Given the description of an element on the screen output the (x, y) to click on. 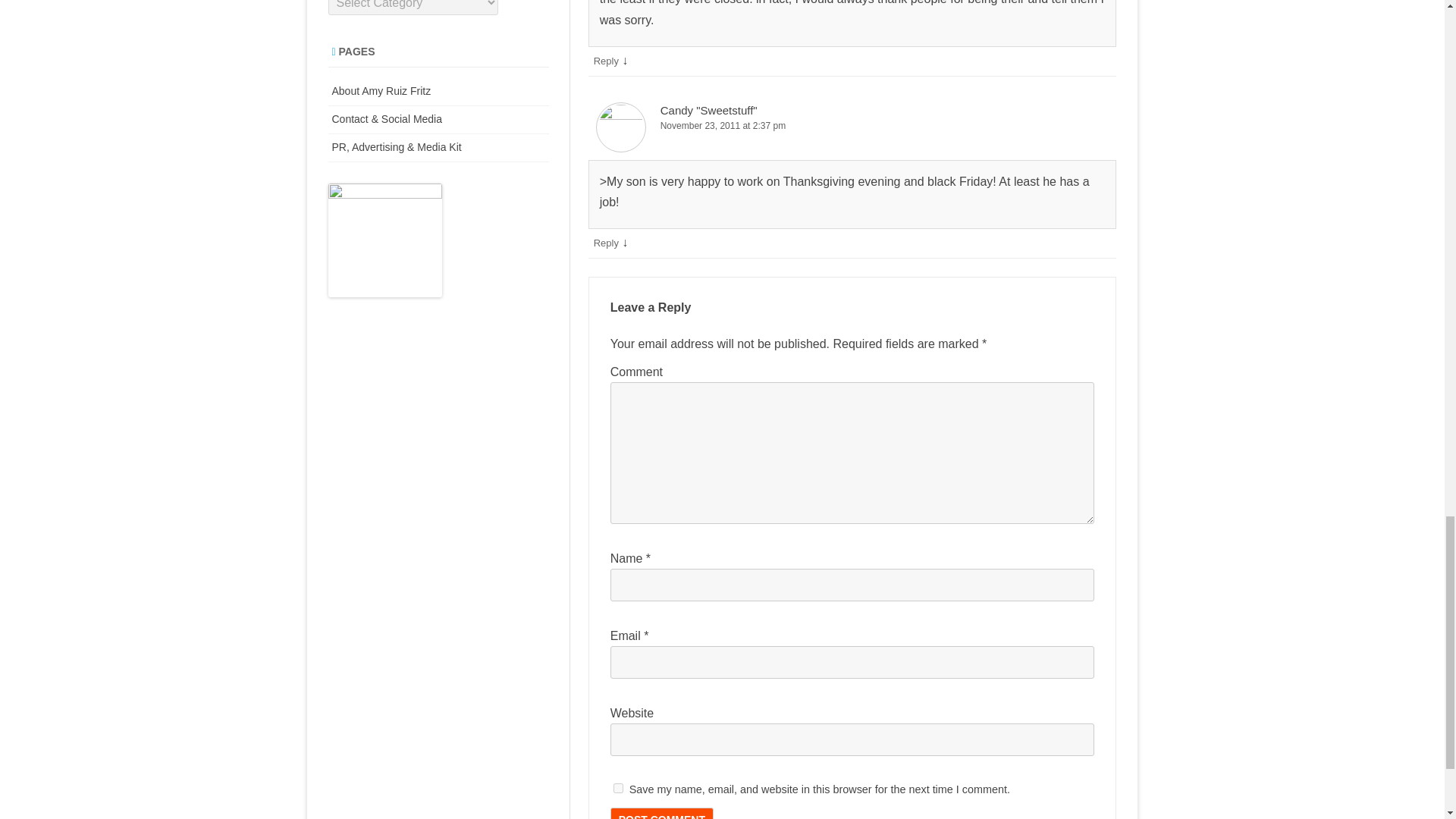
yes (617, 787)
Reply (606, 60)
Post Comment (661, 813)
